Given the description of an element on the screen output the (x, y) to click on. 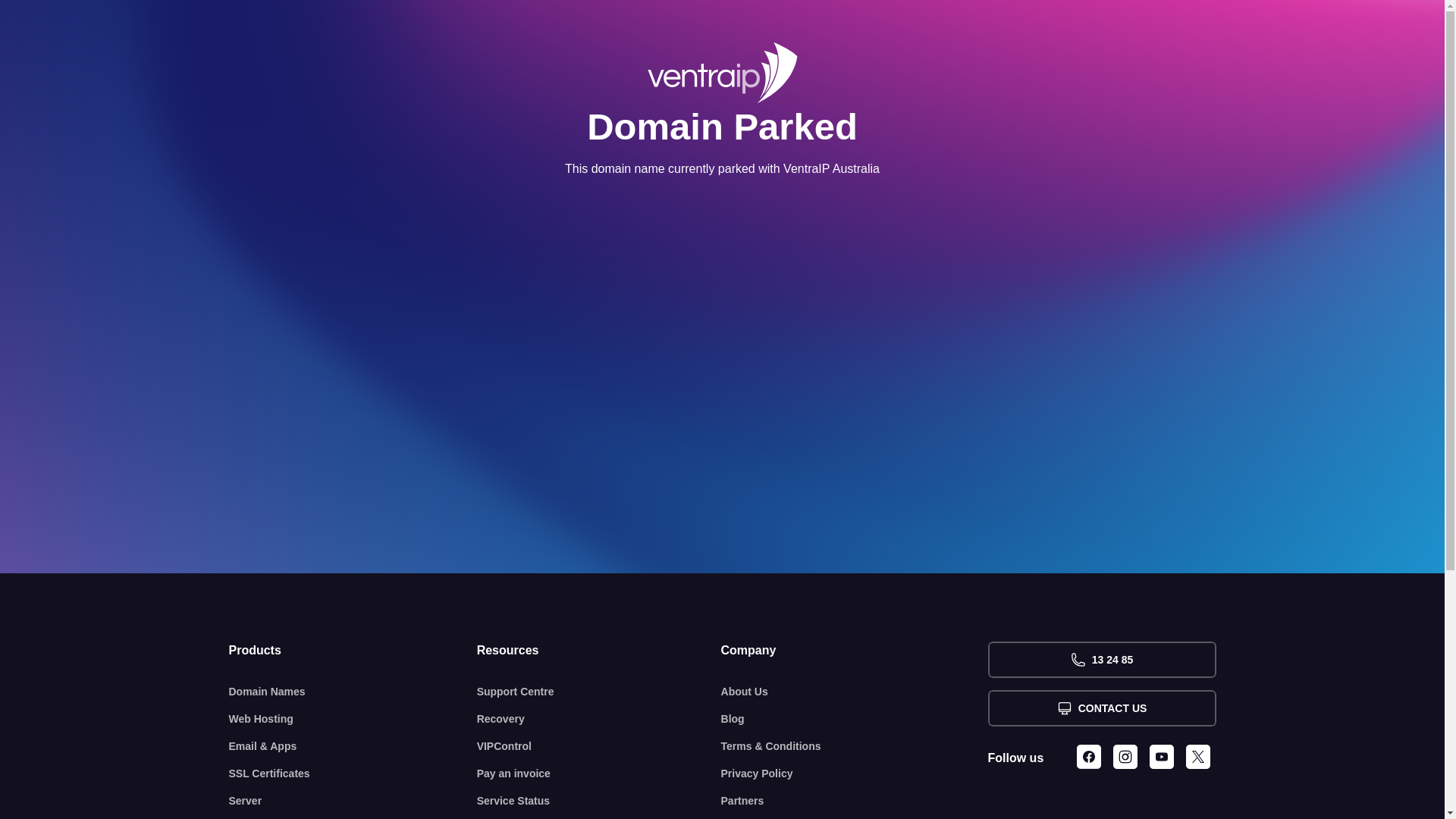
VIPControl Element type: text (598, 745)
CONTACT US Element type: text (1101, 708)
Blog Element type: text (854, 718)
Service Status Element type: text (598, 800)
Support Centre Element type: text (598, 691)
SSL Certificates Element type: text (352, 773)
About Us Element type: text (854, 691)
Domain Names Element type: text (352, 691)
13 24 85 Element type: text (1101, 659)
Web Hosting Element type: text (352, 718)
Server Element type: text (352, 800)
Pay an invoice Element type: text (598, 773)
Privacy Policy Element type: text (854, 773)
Terms & Conditions Element type: text (854, 745)
Email & Apps Element type: text (352, 745)
Partners Element type: text (854, 800)
Recovery Element type: text (598, 718)
